Given the description of an element on the screen output the (x, y) to click on. 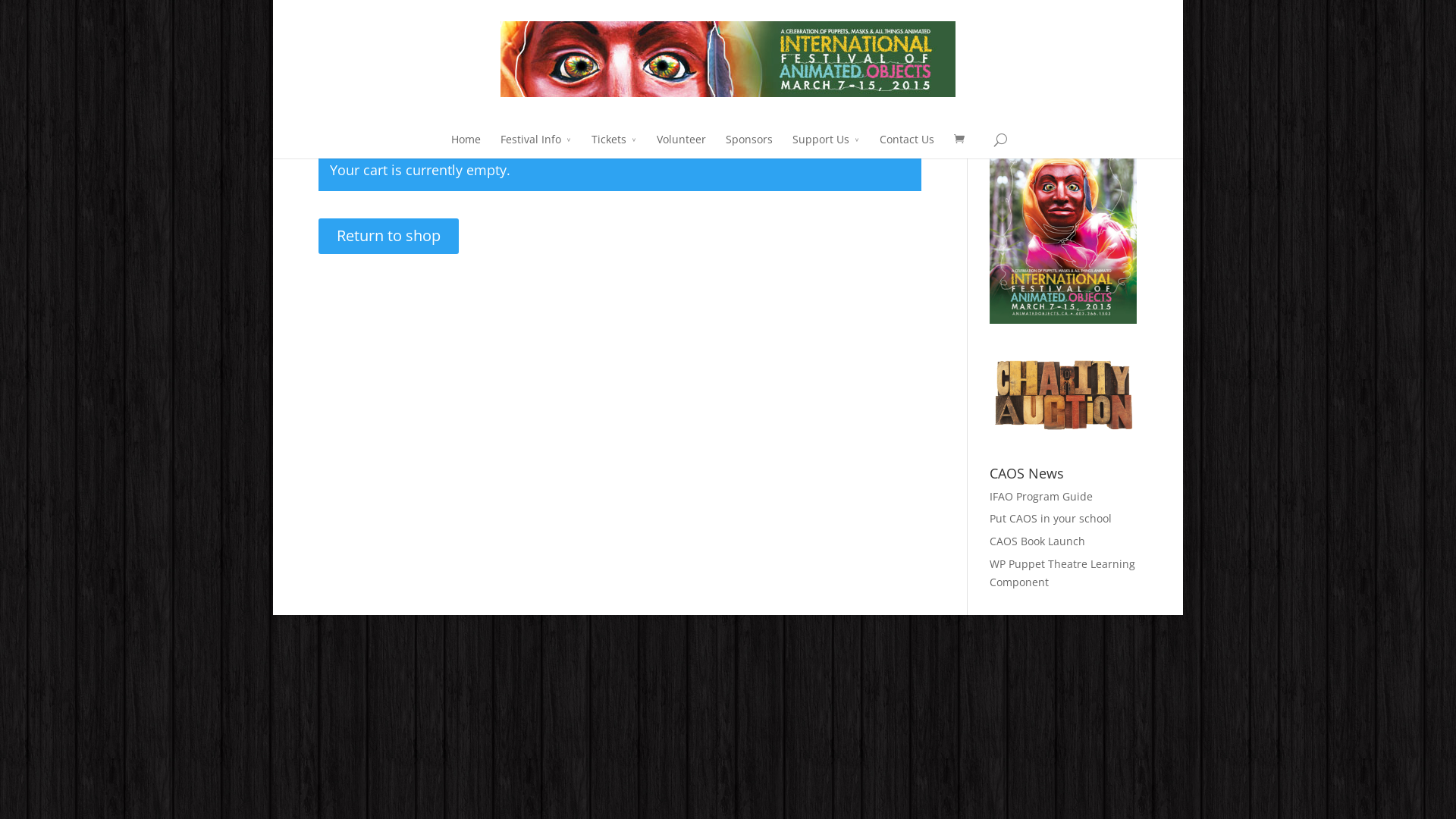
Festival Info Element type: text (535, 144)
Return to shop Element type: text (388, 236)
Home Element type: text (465, 144)
Sponsors Element type: text (747, 144)
Support Us Element type: text (825, 144)
IFAO Program Guide Element type: text (1040, 496)
Put CAOS in your school Element type: text (1050, 518)
Contact Us Element type: text (906, 144)
Tickets Element type: text (614, 144)
Volunteer Element type: text (681, 144)
CAOS Book Launch Element type: text (1037, 540)
WP Puppet Theatre Learning Component Element type: text (1062, 572)
